Given the description of an element on the screen output the (x, y) to click on. 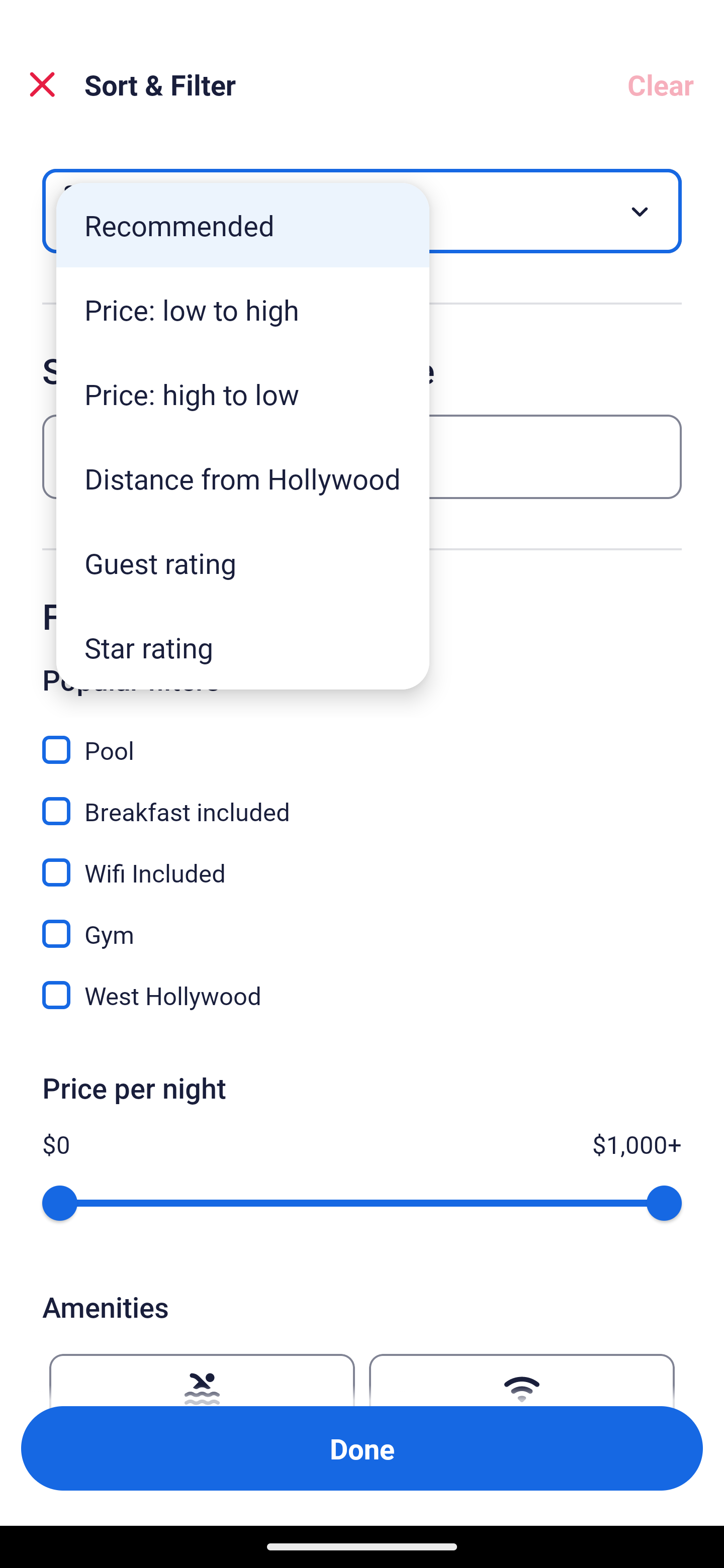
Price: low to high (242, 309)
Price: high to low (242, 393)
Distance from Hollywood (242, 477)
Guest rating (242, 562)
Star rating (242, 647)
